Given the description of an element on the screen output the (x, y) to click on. 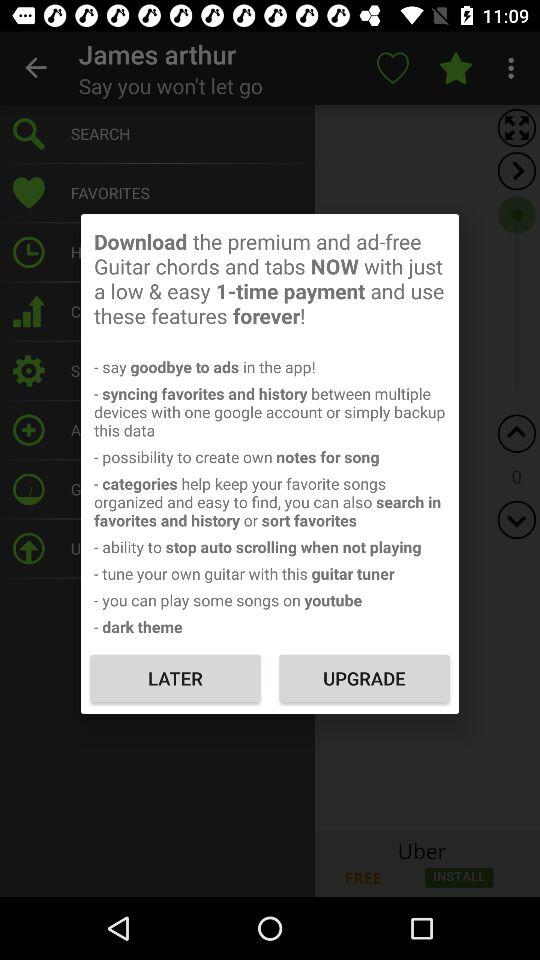
select icon to the right of the later item (364, 677)
